Given the description of an element on the screen output the (x, y) to click on. 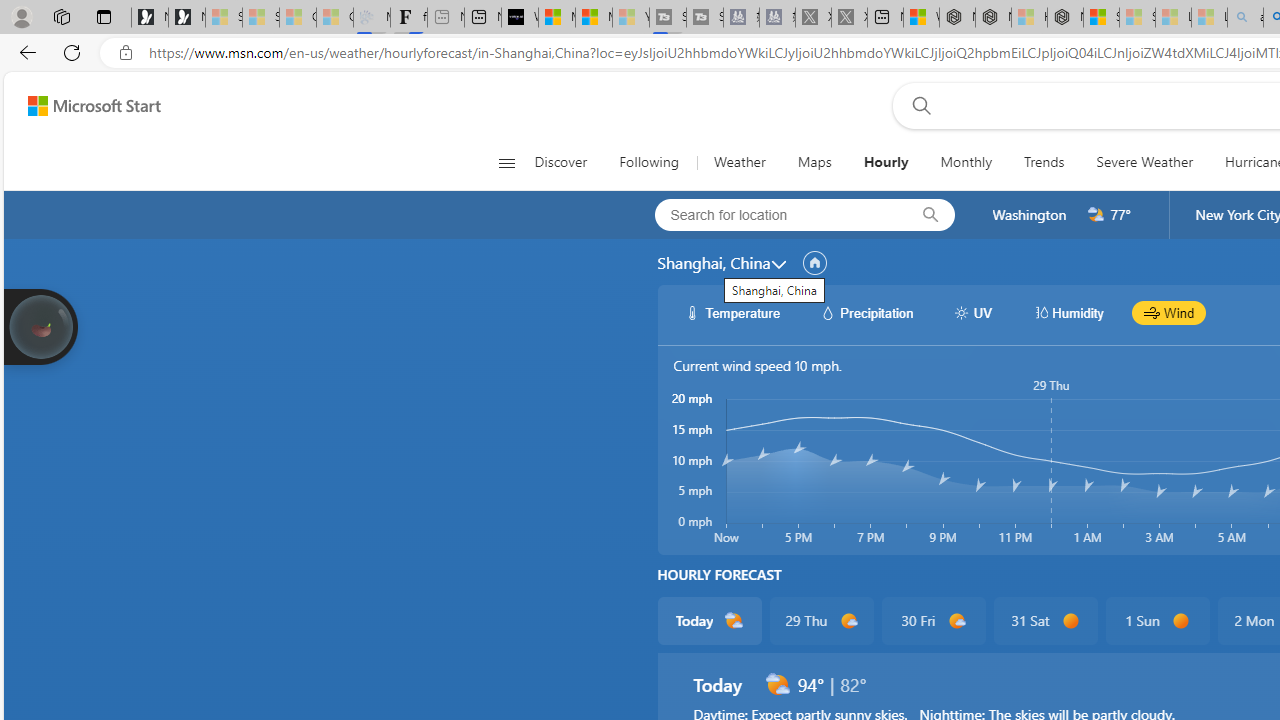
amazon - Search - Sleeping (1245, 17)
hourlyChart/precipitationWhite Precipitation (866, 312)
common/carouselChevron (778, 264)
29 Thu d1000 (821, 620)
Open navigation menu (506, 162)
Maps (813, 162)
